Given the description of an element on the screen output the (x, y) to click on. 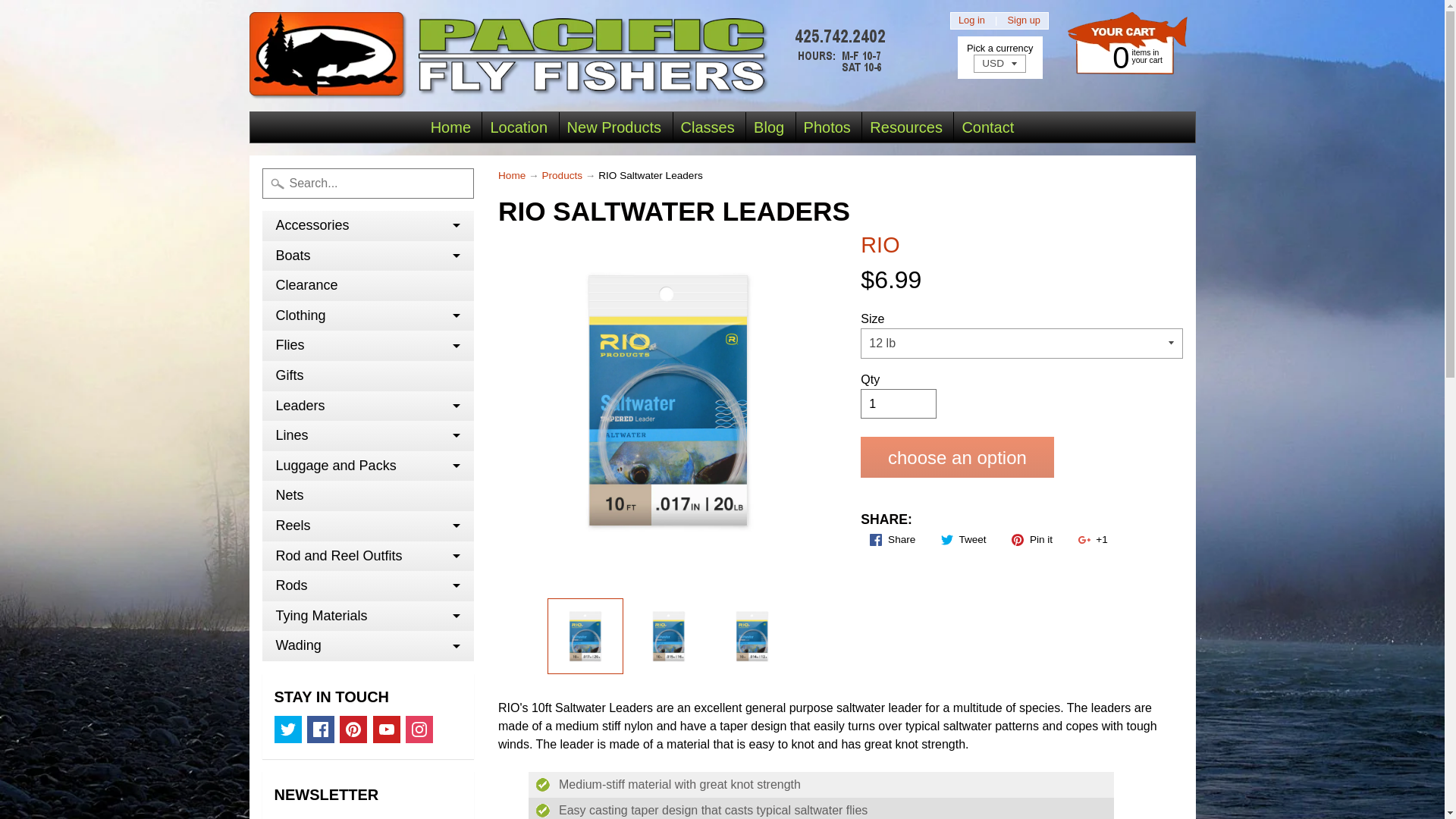
RIO 10-foot Saltwater Leader - 12 lb. (1122, 56)
Blog (752, 636)
Youtube (768, 127)
Pinterest (386, 728)
Boats (352, 728)
Accessories (368, 255)
Sign up (368, 225)
Pacific Fly Fishers (1024, 20)
Instagram (570, 55)
RIO 10-foot Saltwater Leader - 16 lb. (419, 728)
Facebook (668, 636)
Twitter (320, 728)
Classes (288, 728)
1 (707, 127)
